Given the description of an element on the screen output the (x, y) to click on. 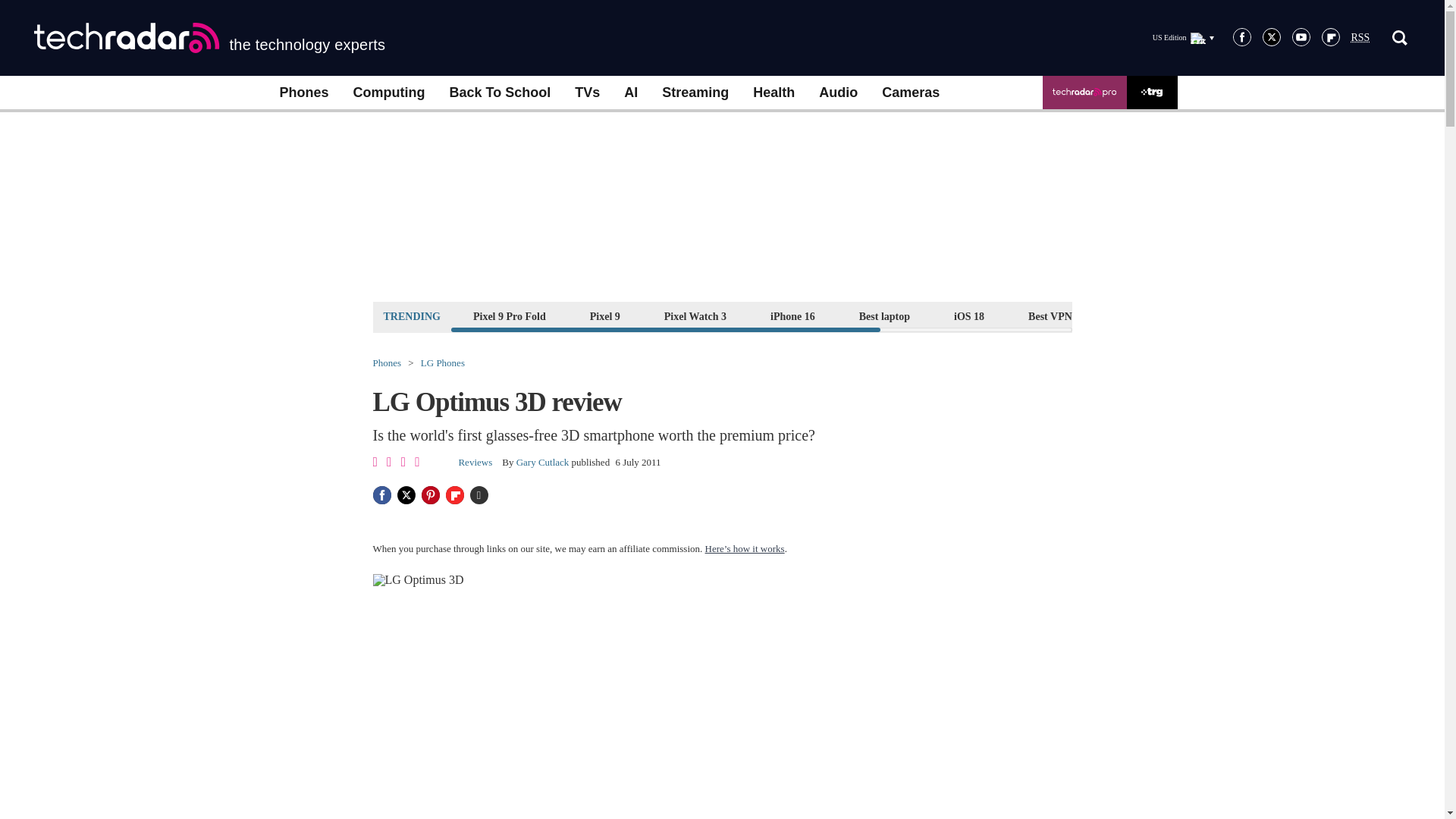
Streaming (695, 92)
Really Simple Syndication (1360, 37)
US Edition (1182, 37)
Computing (389, 92)
Cameras (910, 92)
the technology experts (209, 38)
Health (773, 92)
Audio (837, 92)
AI (630, 92)
Phones (303, 92)
